Given the description of an element on the screen output the (x, y) to click on. 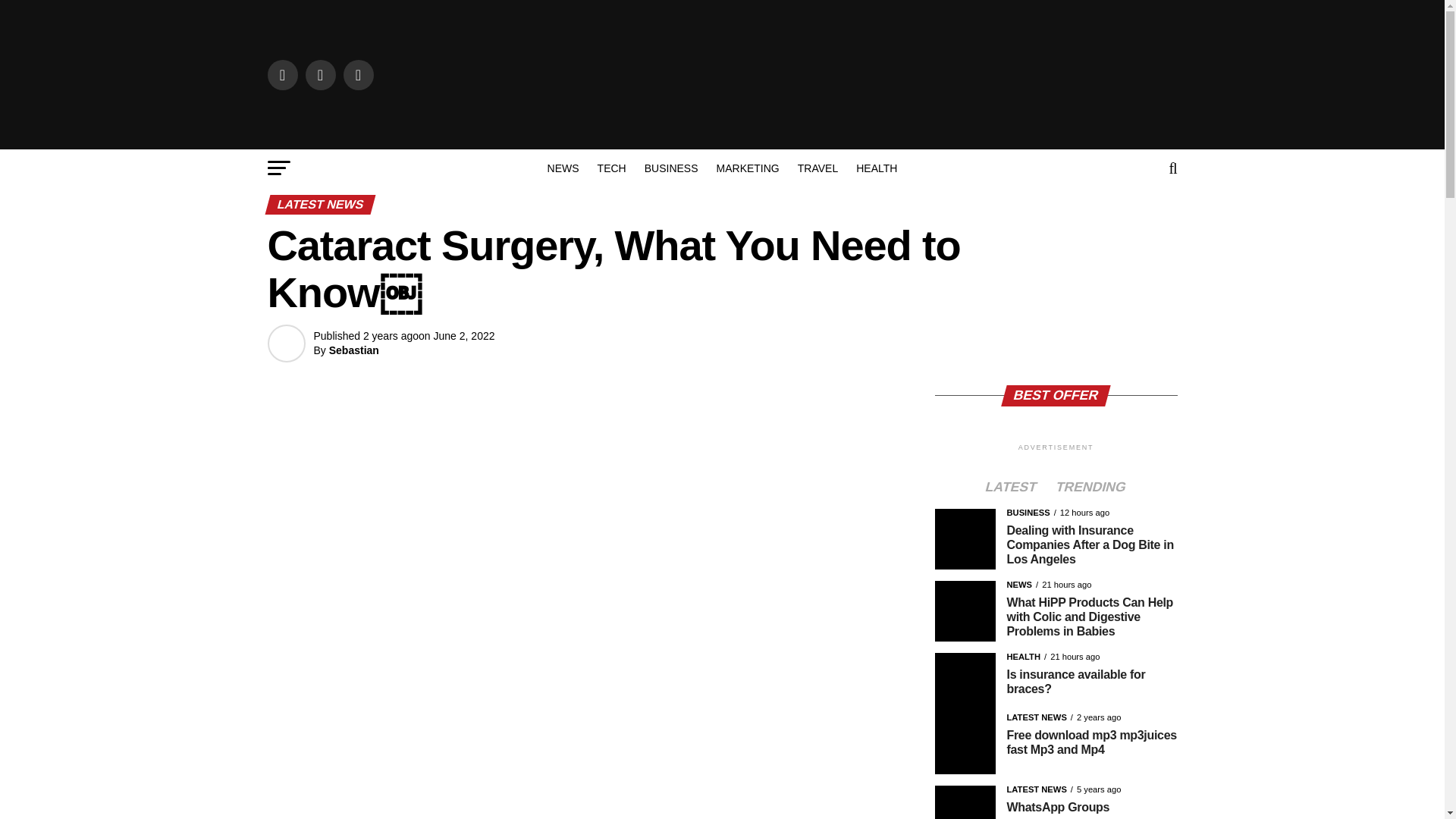
MARKETING (748, 168)
TRENDING (1090, 487)
Sebastian (353, 349)
TRAVEL (818, 168)
Posts by Sebastian (353, 349)
HEALTH (876, 168)
NEWS (563, 168)
BUSINESS (670, 168)
TECH (611, 168)
LATEST (1010, 487)
